Given the description of an element on the screen output the (x, y) to click on. 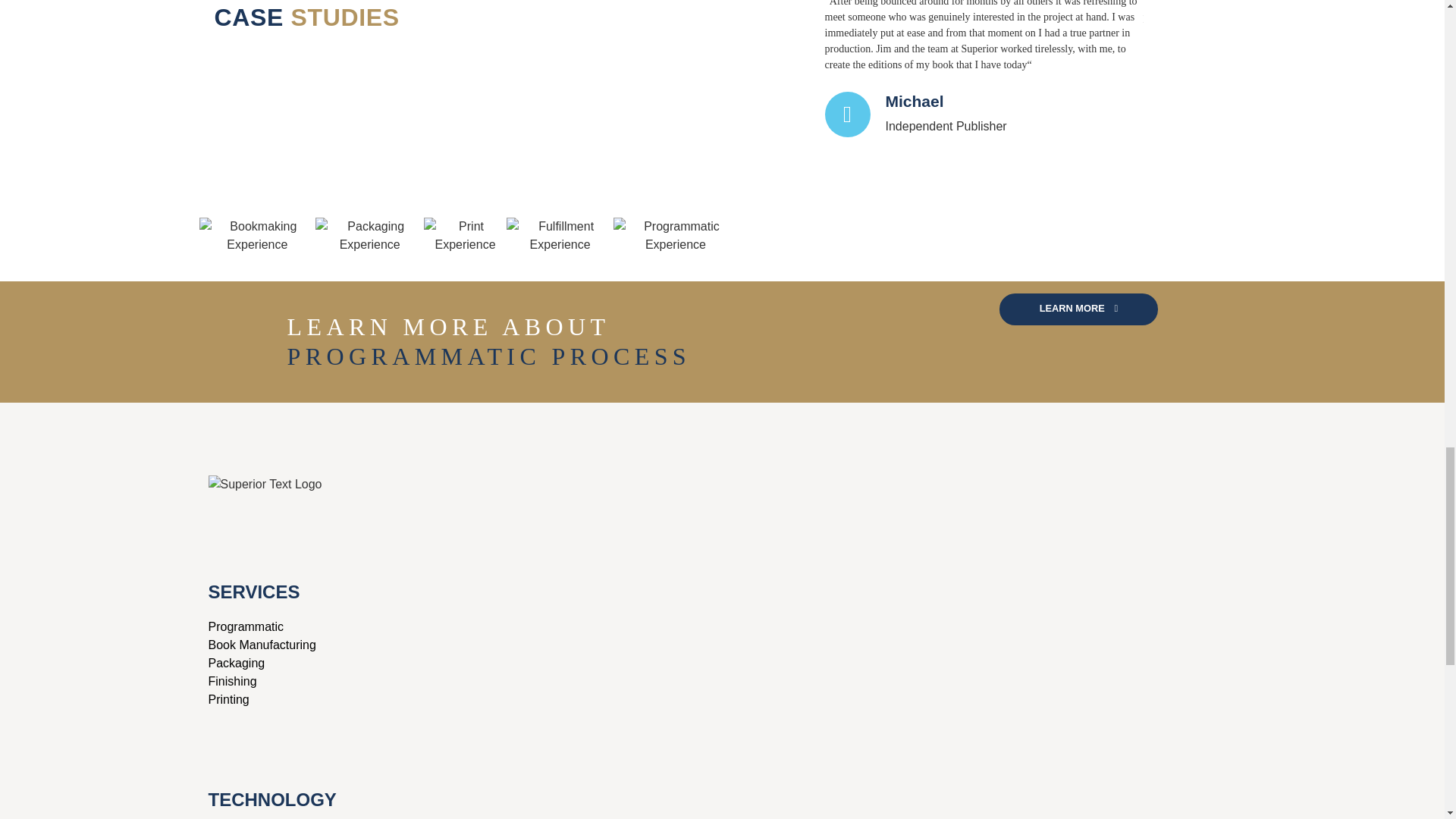
Print Experience (464, 235)
Packaging Experience (369, 235)
Bookmaking Experience (256, 235)
Fulfillment Experience (559, 235)
Programmatic Experience (674, 235)
